Given the description of an element on the screen output the (x, y) to click on. 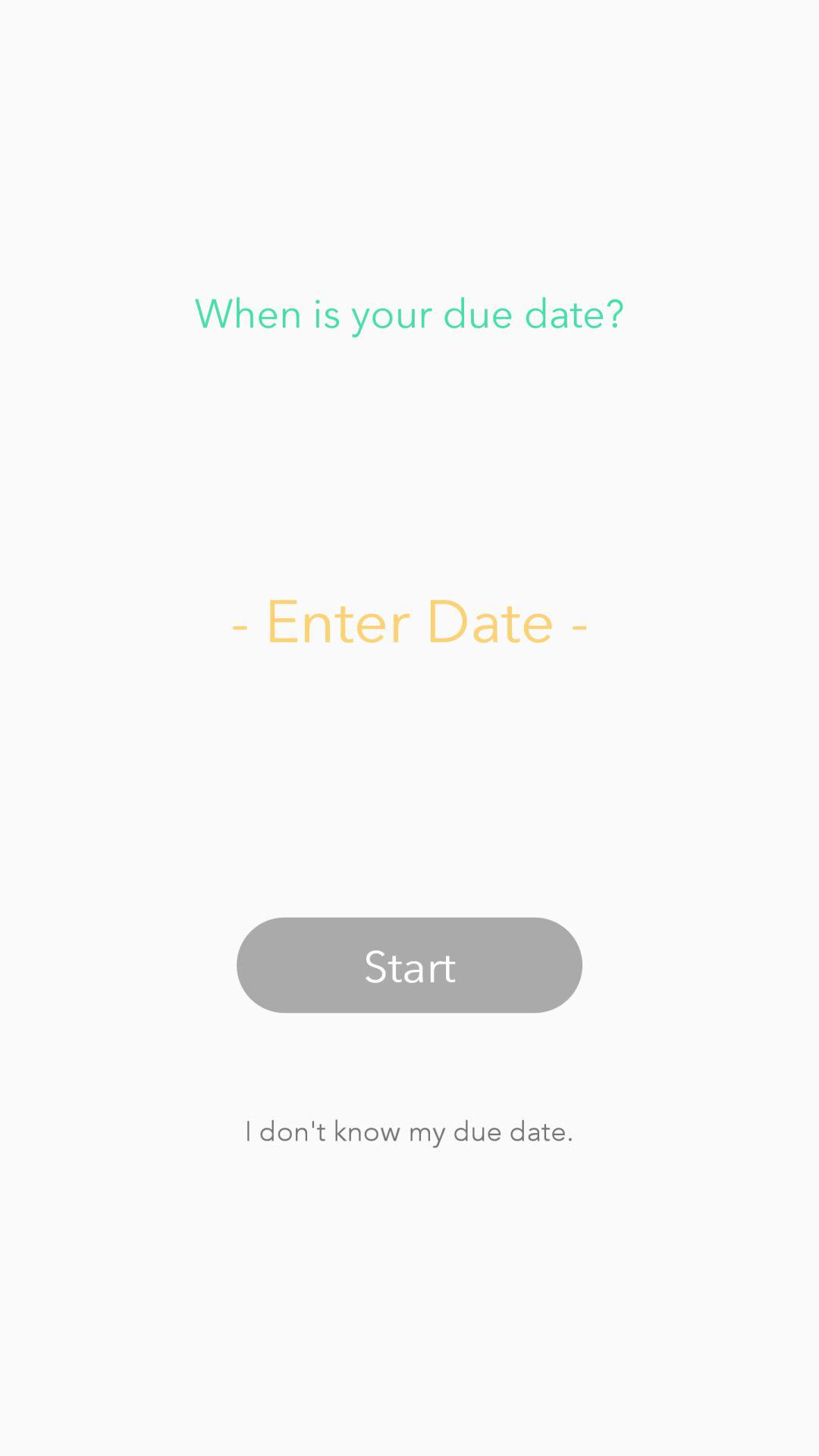
flip to the - enter date - (409, 618)
